Given the description of an element on the screen output the (x, y) to click on. 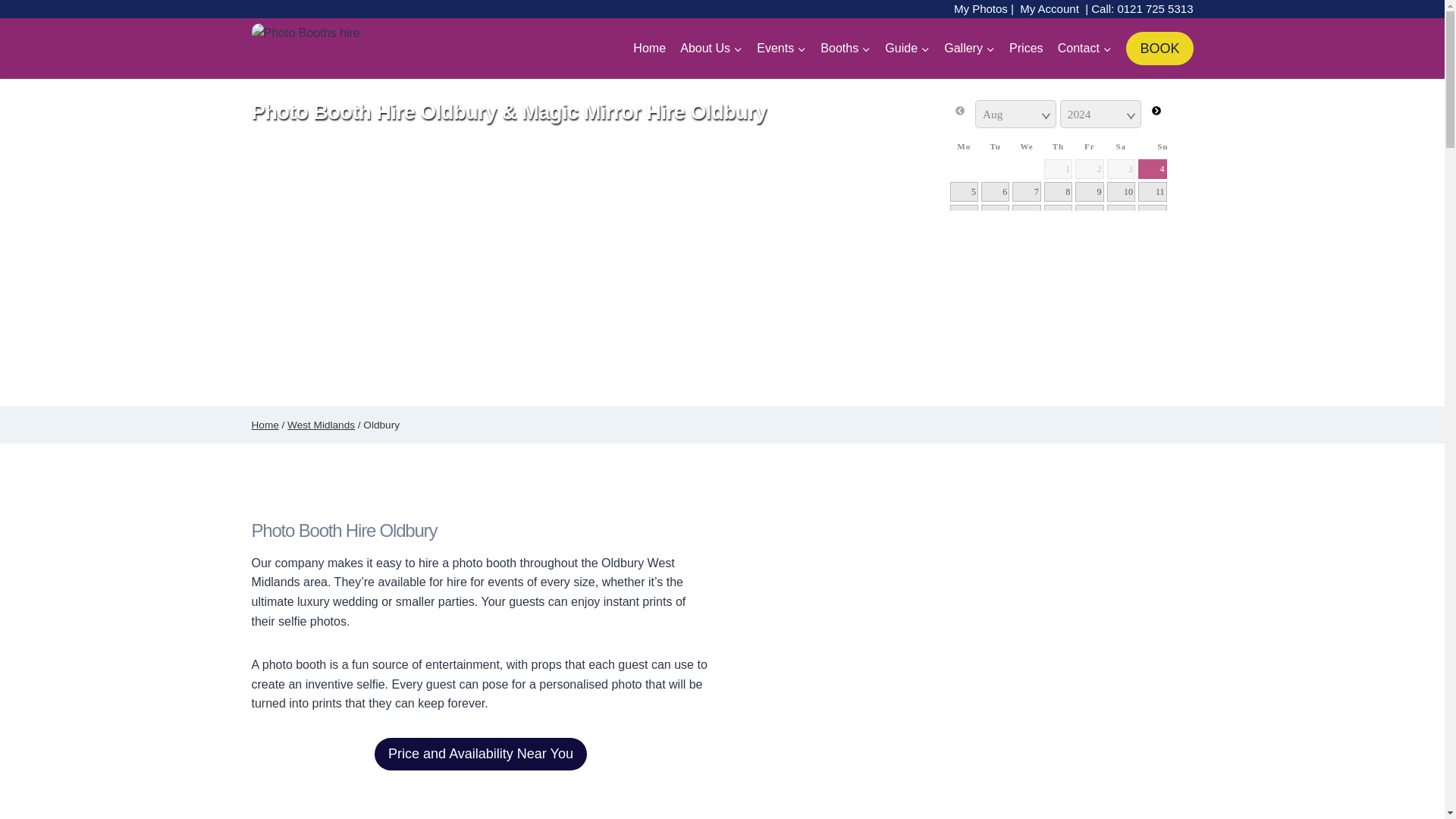
My Photos (980, 8)
Events (781, 48)
0121 725 5313 (1154, 8)
Home (649, 48)
Guide (907, 48)
About Us (710, 48)
Booths (845, 48)
My Account (1049, 8)
Gallery (970, 48)
